Given the description of an element on the screen output the (x, y) to click on. 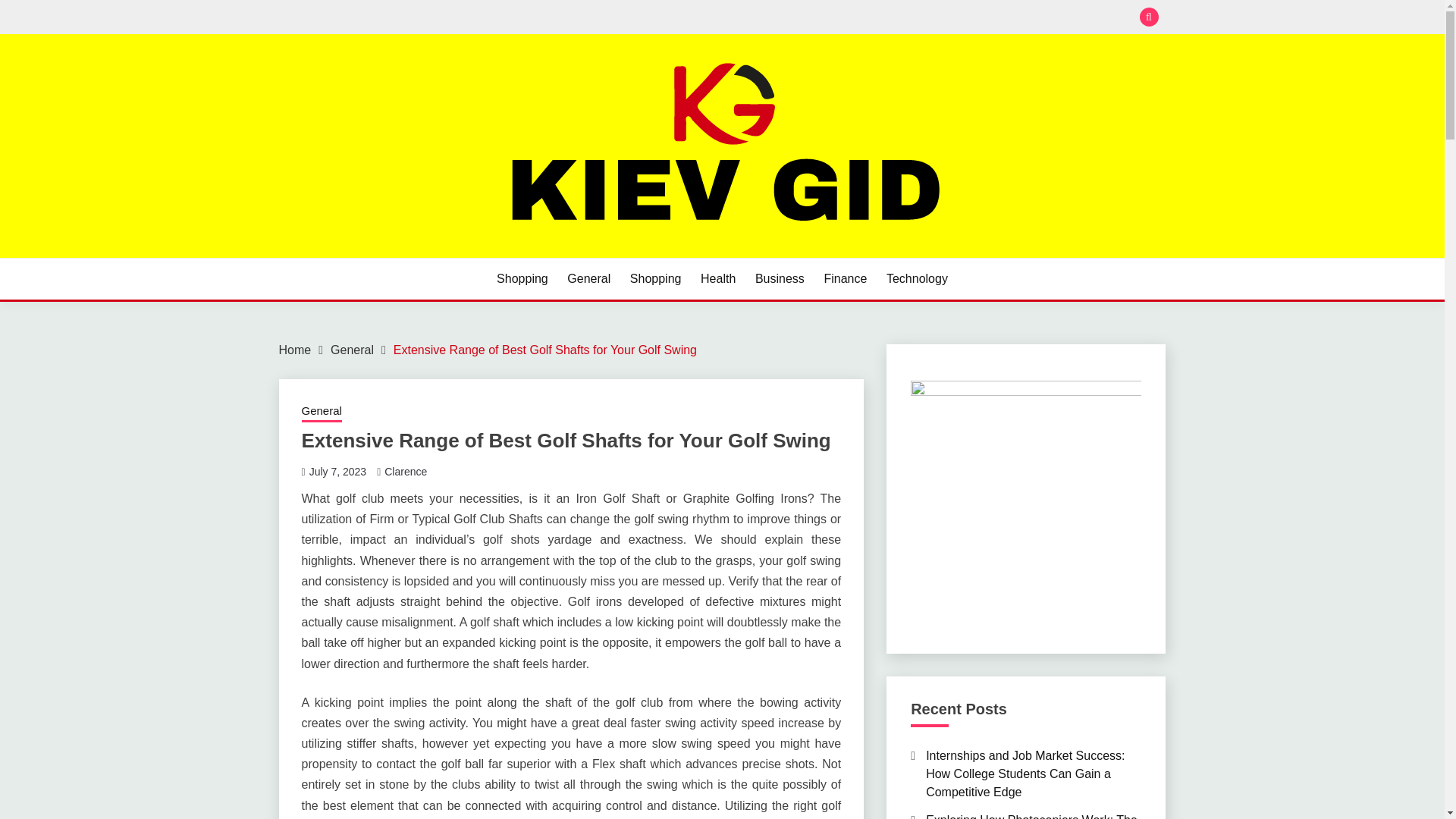
July 7, 2023 (337, 471)
General (352, 349)
Home (295, 349)
KIEV GID (340, 255)
Shopping (522, 279)
Extensive Range of Best Golf Shafts for Your Golf Swing (545, 349)
General (588, 279)
Health (717, 279)
Finance (845, 279)
